Given the description of an element on the screen output the (x, y) to click on. 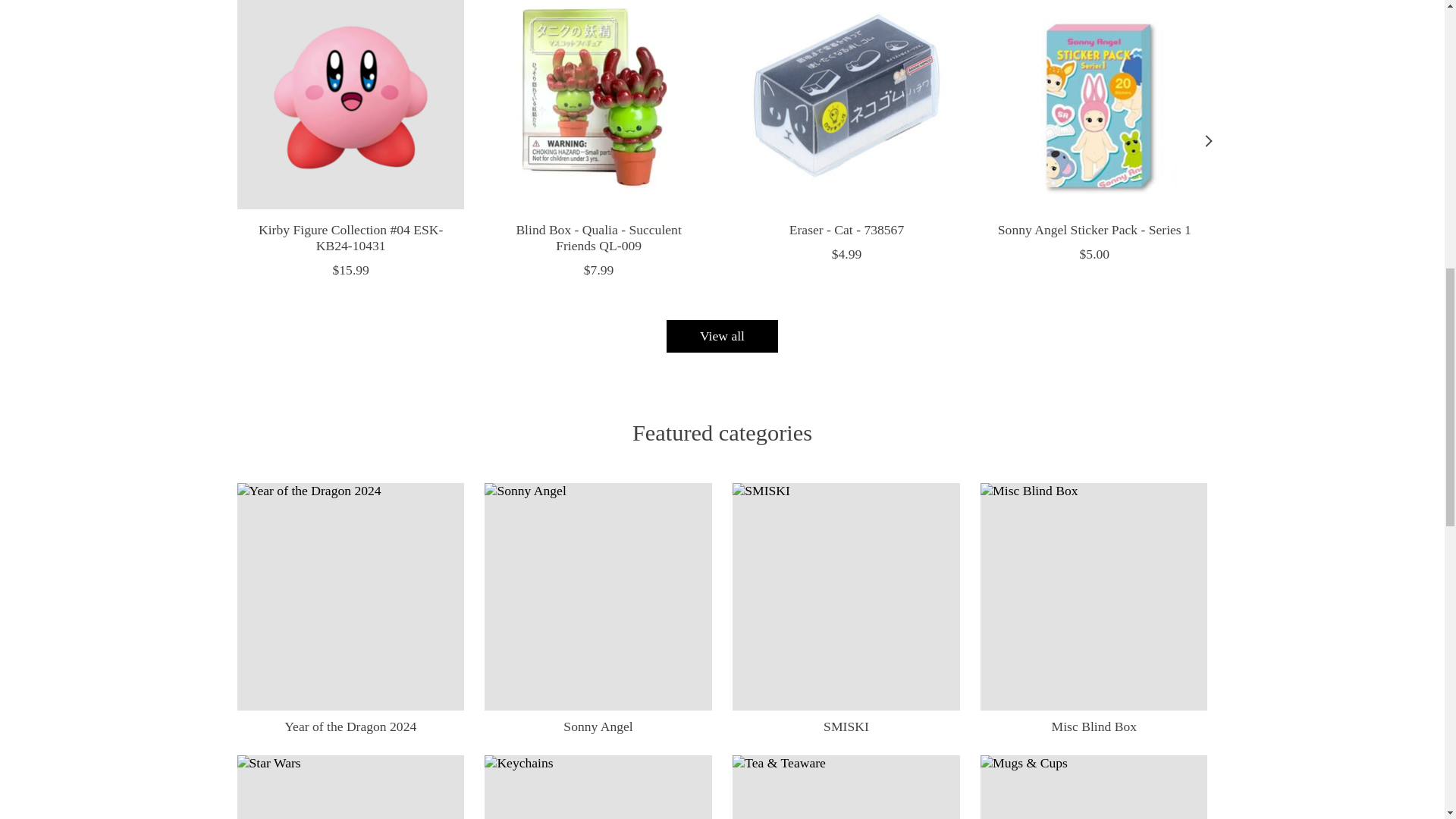
Sonny Angel (597, 596)
Dreams Sonny Angel Sticker Pack - Series 1 (1093, 104)
Year of the Dragon 2024 (350, 596)
SMISKI (845, 596)
Sun Star Eraser - Cat - 738567 (845, 104)
Qualia Blind Box - Qualia - Succulent Friends QL-009 (597, 104)
